Given the description of an element on the screen output the (x, y) to click on. 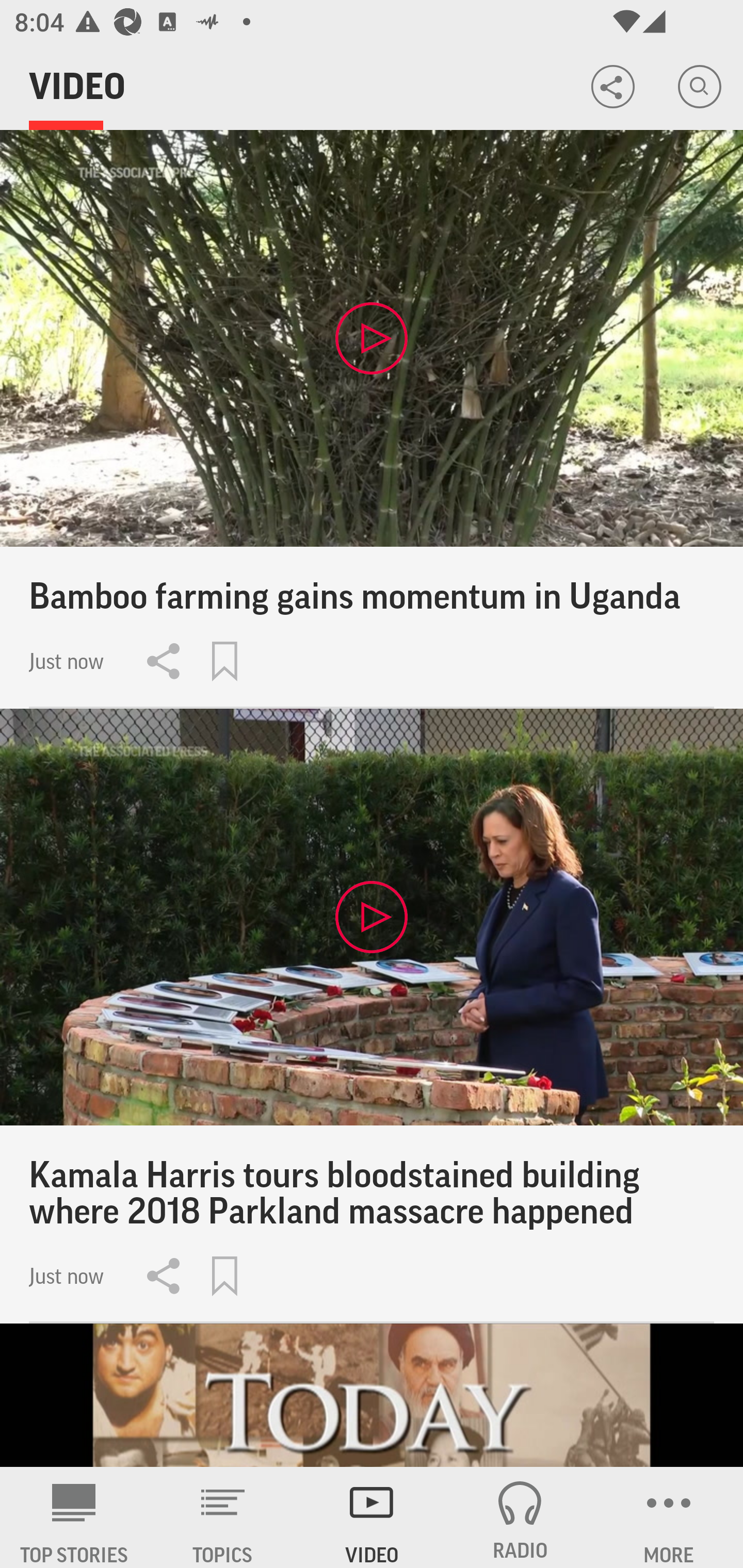
Bamboo farming gains momentum in Uganda Just now (371, 419)
AP News TOP STORIES (74, 1517)
TOPICS (222, 1517)
VIDEO (371, 1517)
RADIO (519, 1517)
MORE (668, 1517)
